Given the description of an element on the screen output the (x, y) to click on. 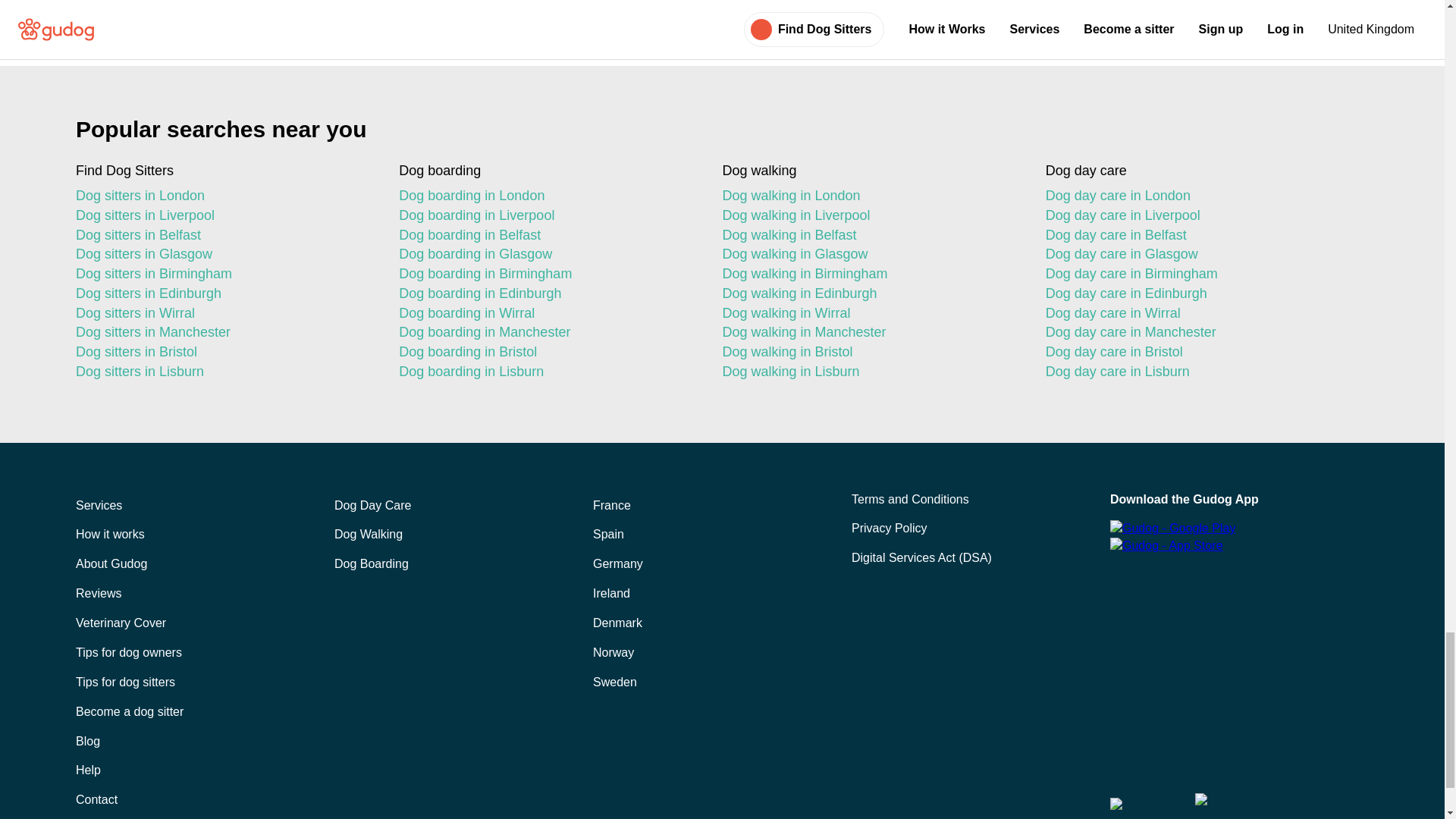
Dog boarding in Liverpool (547, 216)
Dog boarding in London (547, 196)
Dog sitters in Glasgow (224, 254)
Dog sitters in Glasgow (224, 254)
Dog boarding in Belfast (547, 235)
Dog sitters in Belfast (224, 235)
Dog sitters in Birmingham (224, 274)
Dog sitters in Bristol (224, 352)
Dog sitters in Wirral (224, 313)
Dog sitters in Lisburn (224, 372)
Dog sitters in London (224, 196)
Dog sitters in Lisburn (224, 372)
Dog sitters in Edinburgh (224, 293)
Dog sitters in Bristol (224, 352)
Dog sitters in Liverpool (224, 216)
